Given the description of an element on the screen output the (x, y) to click on. 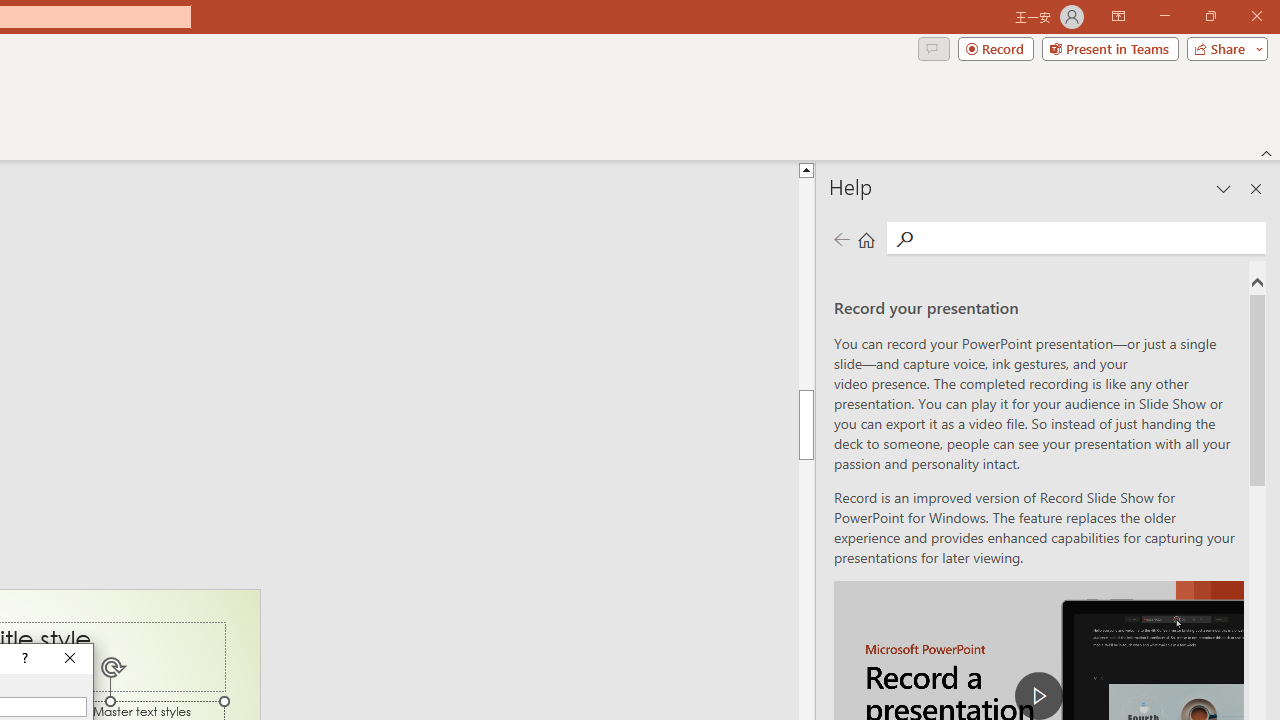
play Record a Presentation (1038, 695)
Previous page (841, 238)
